Given the description of an element on the screen output the (x, y) to click on. 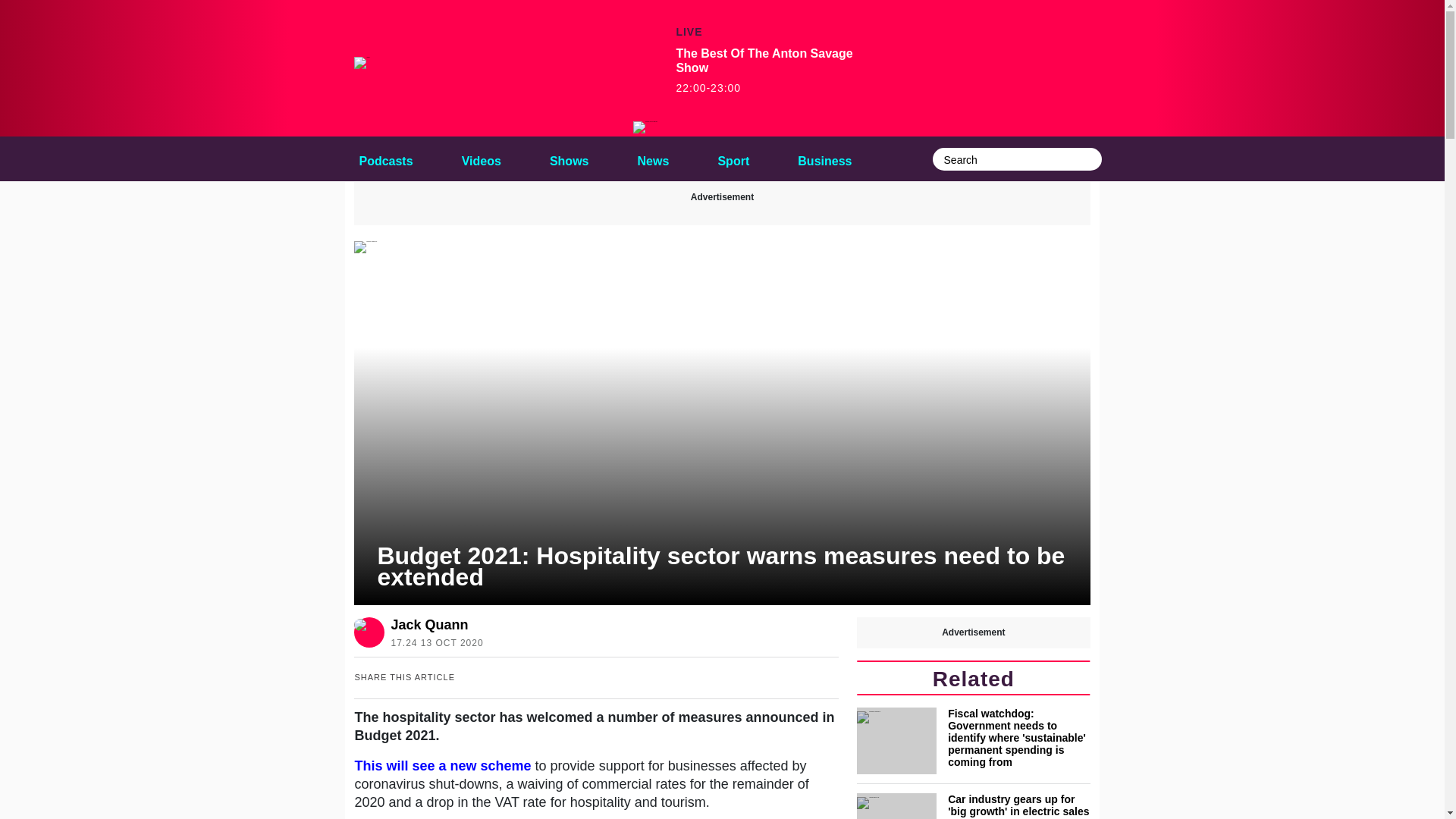
Videos (481, 158)
Jack Quann (433, 624)
News (653, 158)
This will see a new scheme (443, 765)
Sport (733, 158)
Podcasts (384, 158)
Videos (481, 158)
Sport (733, 158)
Business (824, 158)
